Given the description of an element on the screen output the (x, y) to click on. 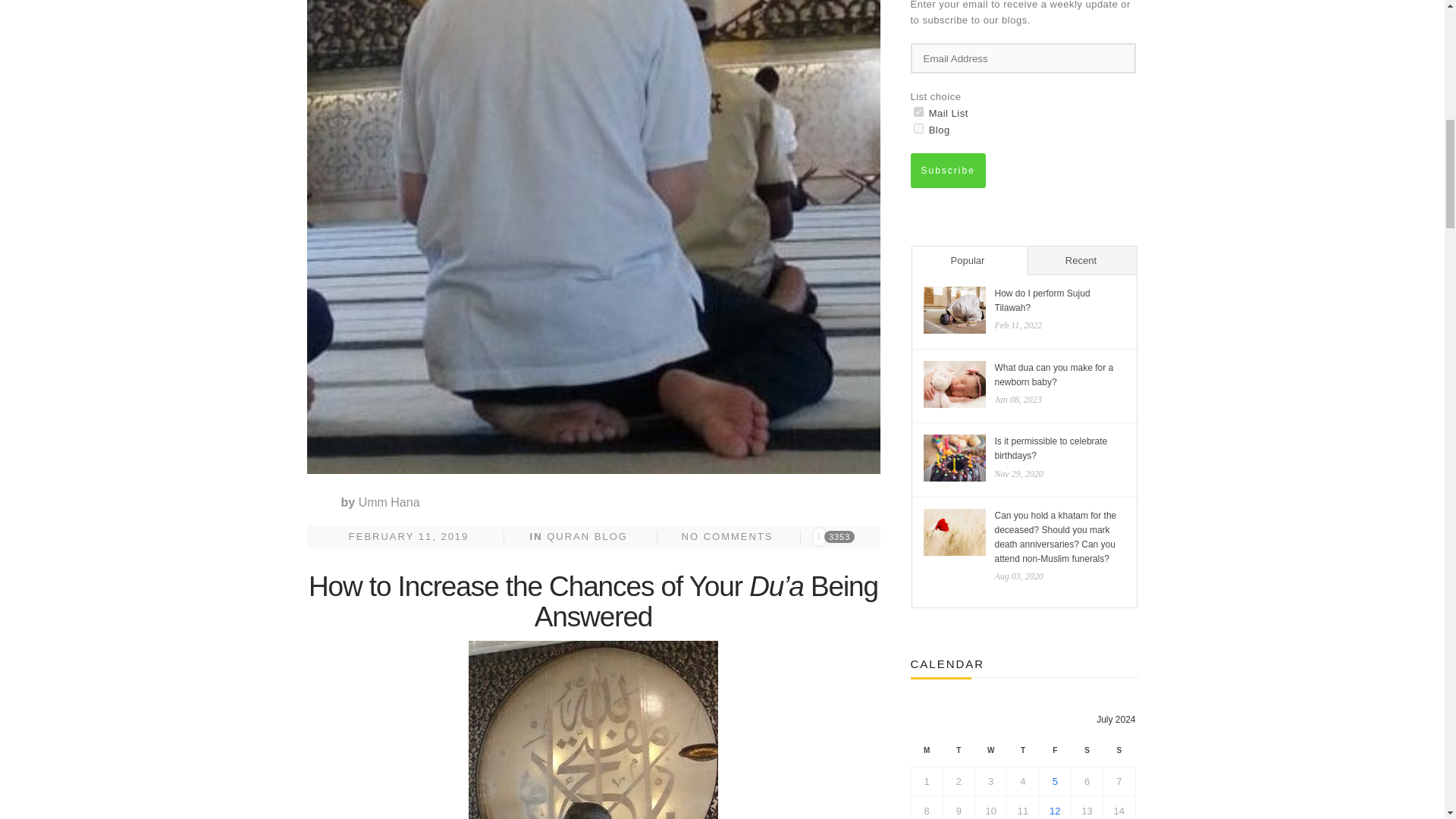
Wednesday (991, 753)
Subscribe (947, 170)
Posts by Umm Hana (389, 502)
Tuesday (958, 753)
66fdb0e5bb (917, 112)
b3474c0332 (917, 128)
Thursday (1023, 753)
Saturday (1086, 753)
Umm Hana (389, 502)
Friday (1054, 753)
Monday (926, 753)
Sunday (1119, 753)
